Given the description of an element on the screen output the (x, y) to click on. 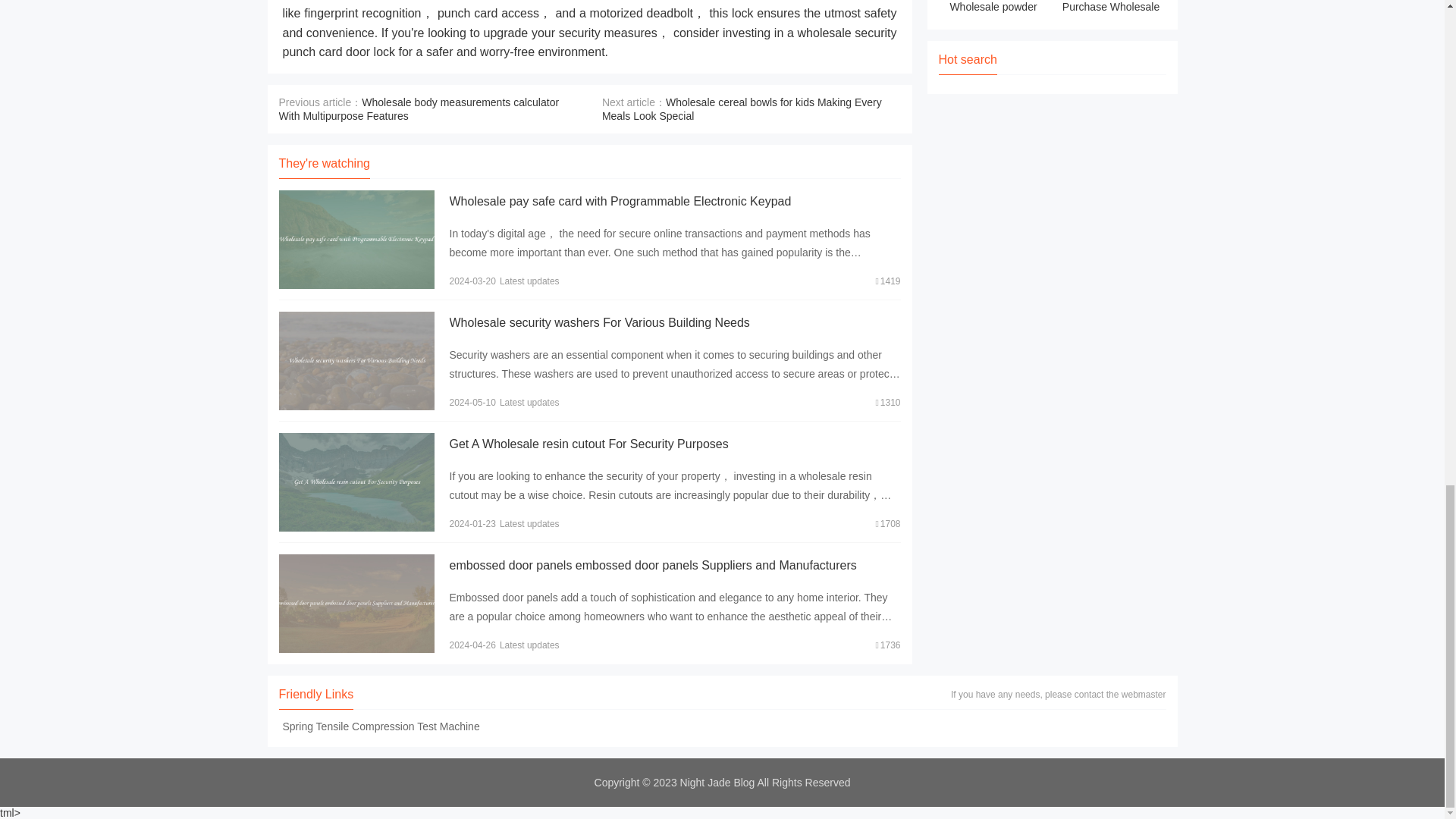
Spring Tensile Compression Test Machine (381, 726)
Wholesale pay safe card with Programmable Electronic Keypad (619, 201)
Wholesale powder inhalation For Various Needs On Sale (993, 9)
Get A Wholesale resin cutout For Security Purposes (588, 443)
Wholesale security washers For Various Building Needs (598, 322)
